Given the description of an element on the screen output the (x, y) to click on. 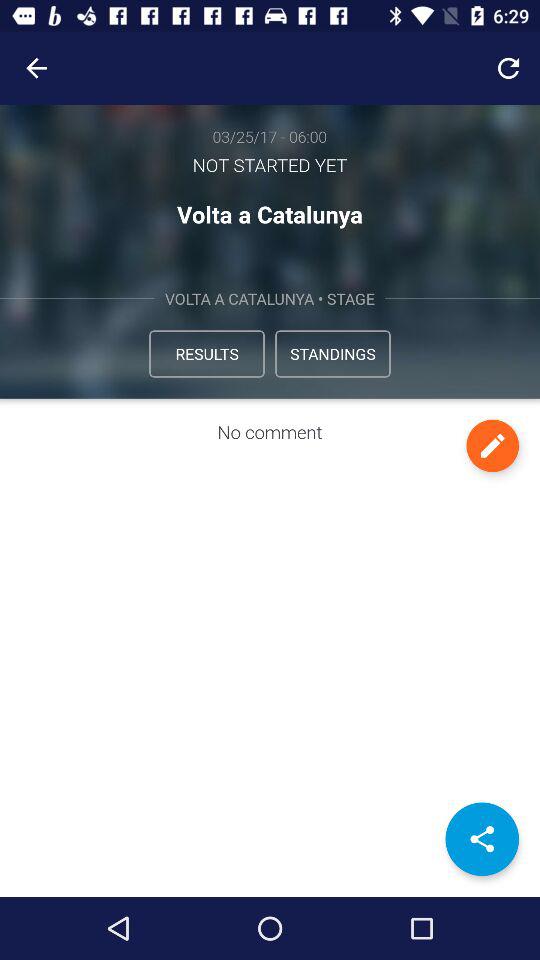
open icon at the top right corner (508, 67)
